Given the description of an element on the screen output the (x, y) to click on. 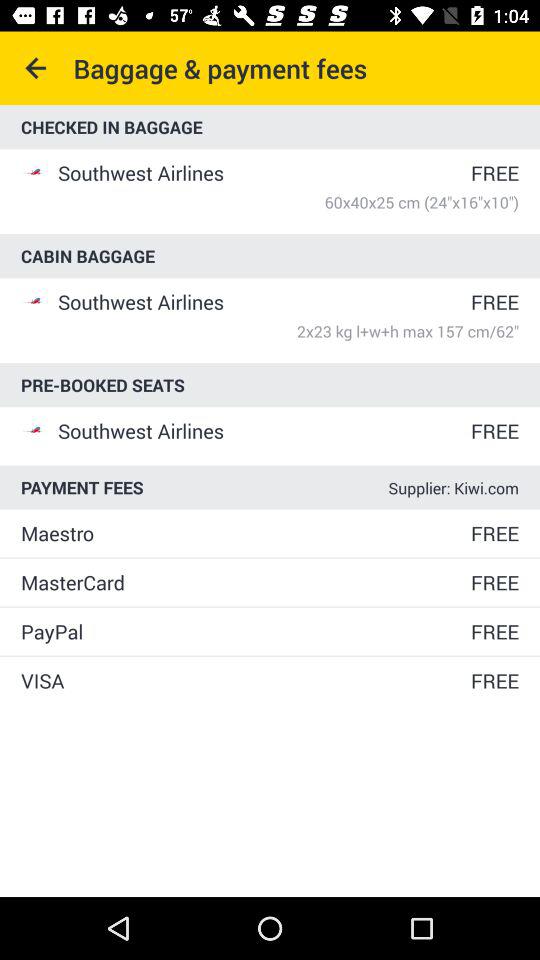
launch icon to the left of free (244, 680)
